Given the description of an element on the screen output the (x, y) to click on. 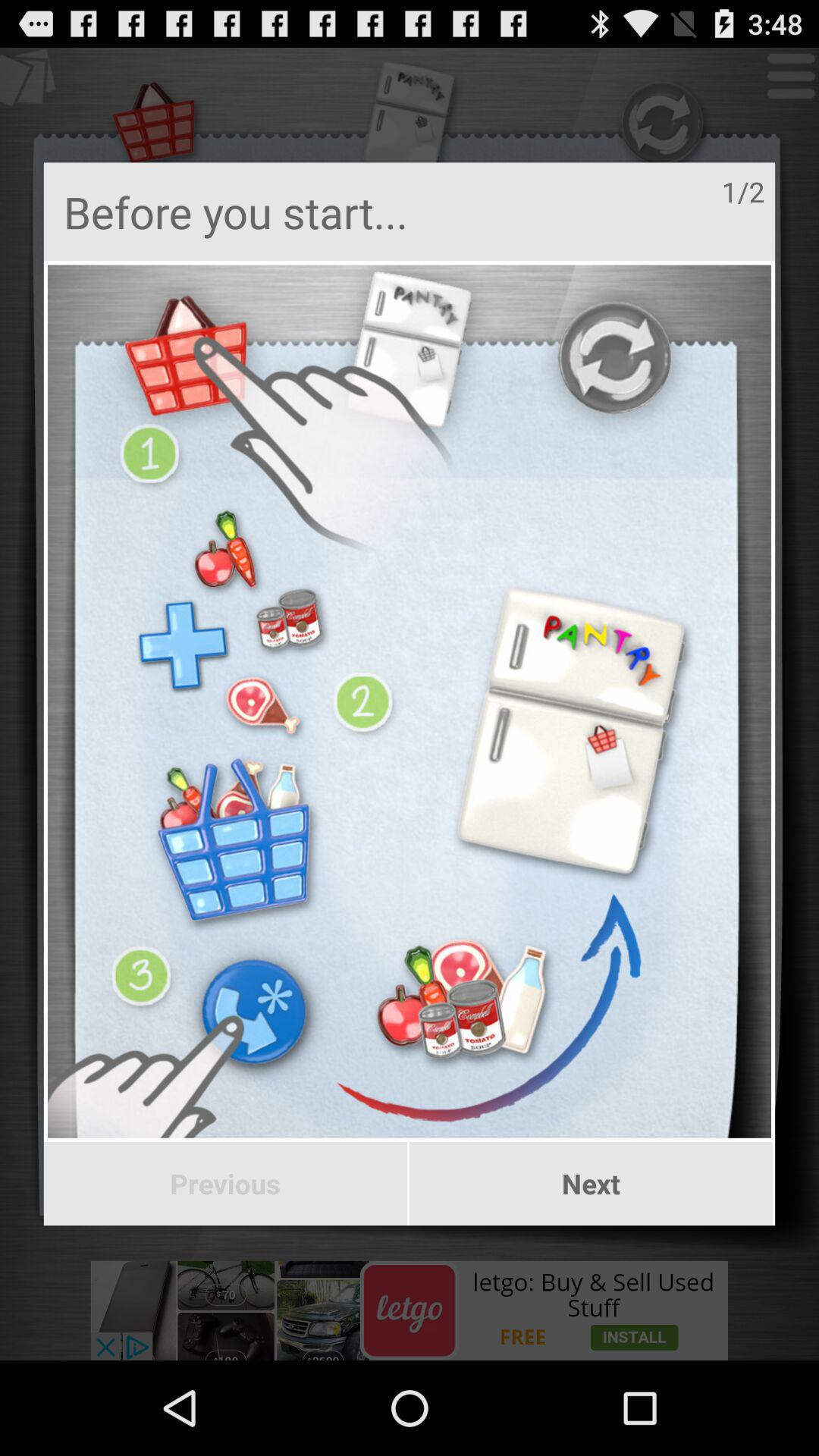
scroll until previous button (225, 1183)
